Given the description of an element on the screen output the (x, y) to click on. 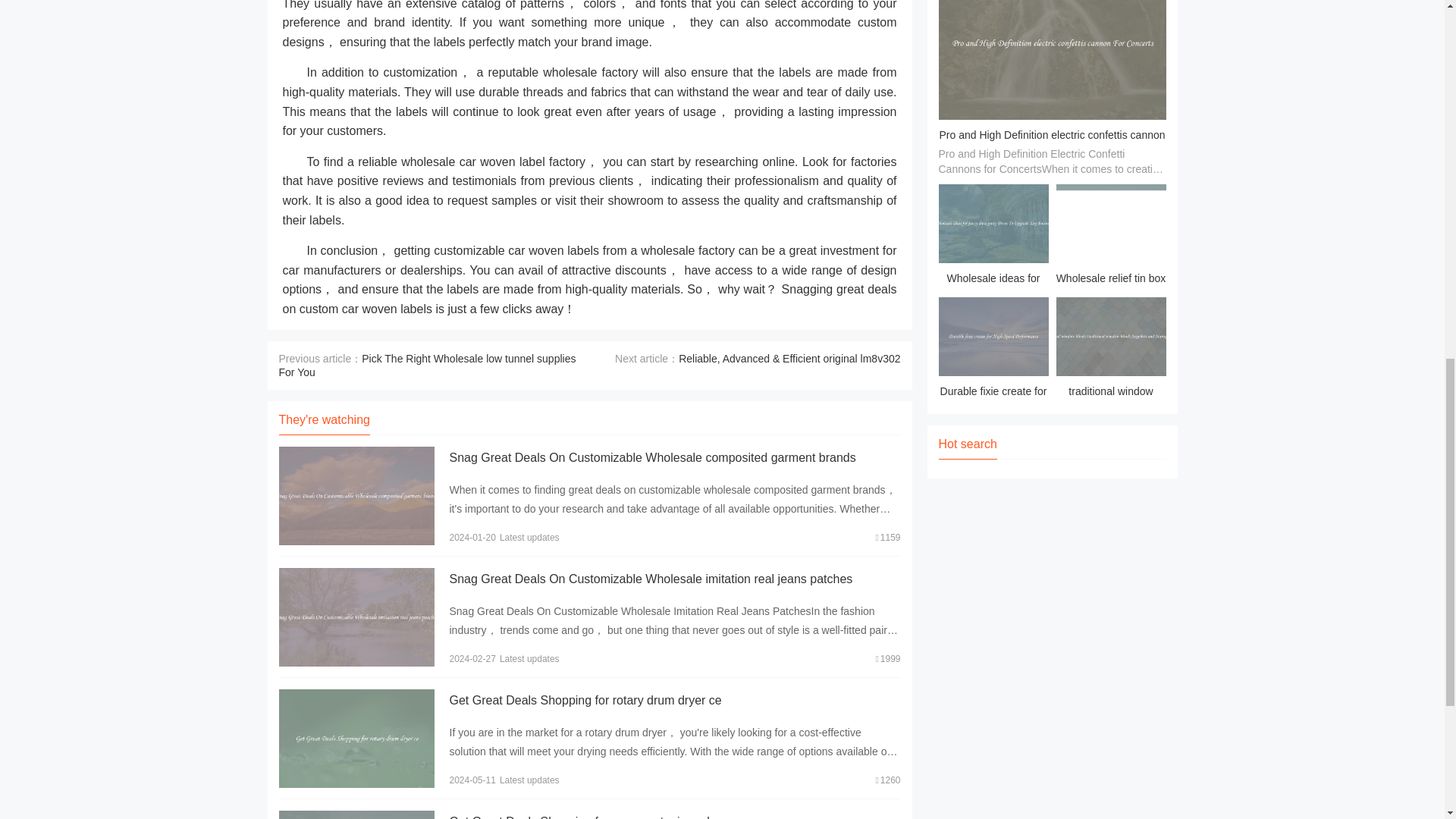
Get Great Deals Shopping for cassava tapioca dryer (589, 816)
Durable fixie create for High-Speed Performance (993, 349)
Wholesale relief tin box for Robust and Clean Sanitation (1110, 236)
Pick The Right Wholesale low tunnel supplies For You (427, 365)
Get Great Deals Shopping for rotary drum dryer ce (584, 699)
